Given the description of an element on the screen output the (x, y) to click on. 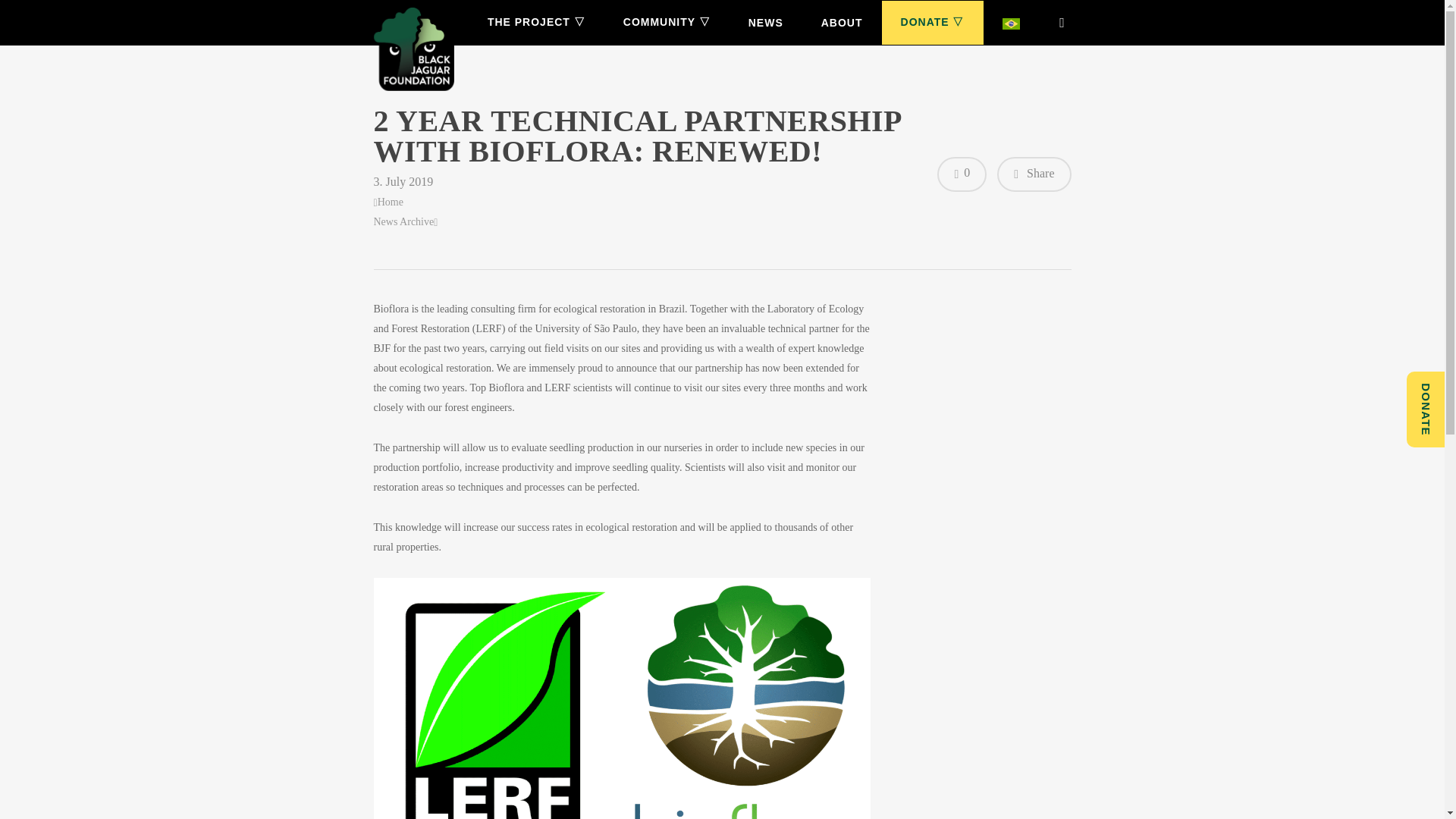
Love this (962, 174)
NEWS (765, 22)
ABOUT (842, 22)
